Given the description of an element on the screen output the (x, y) to click on. 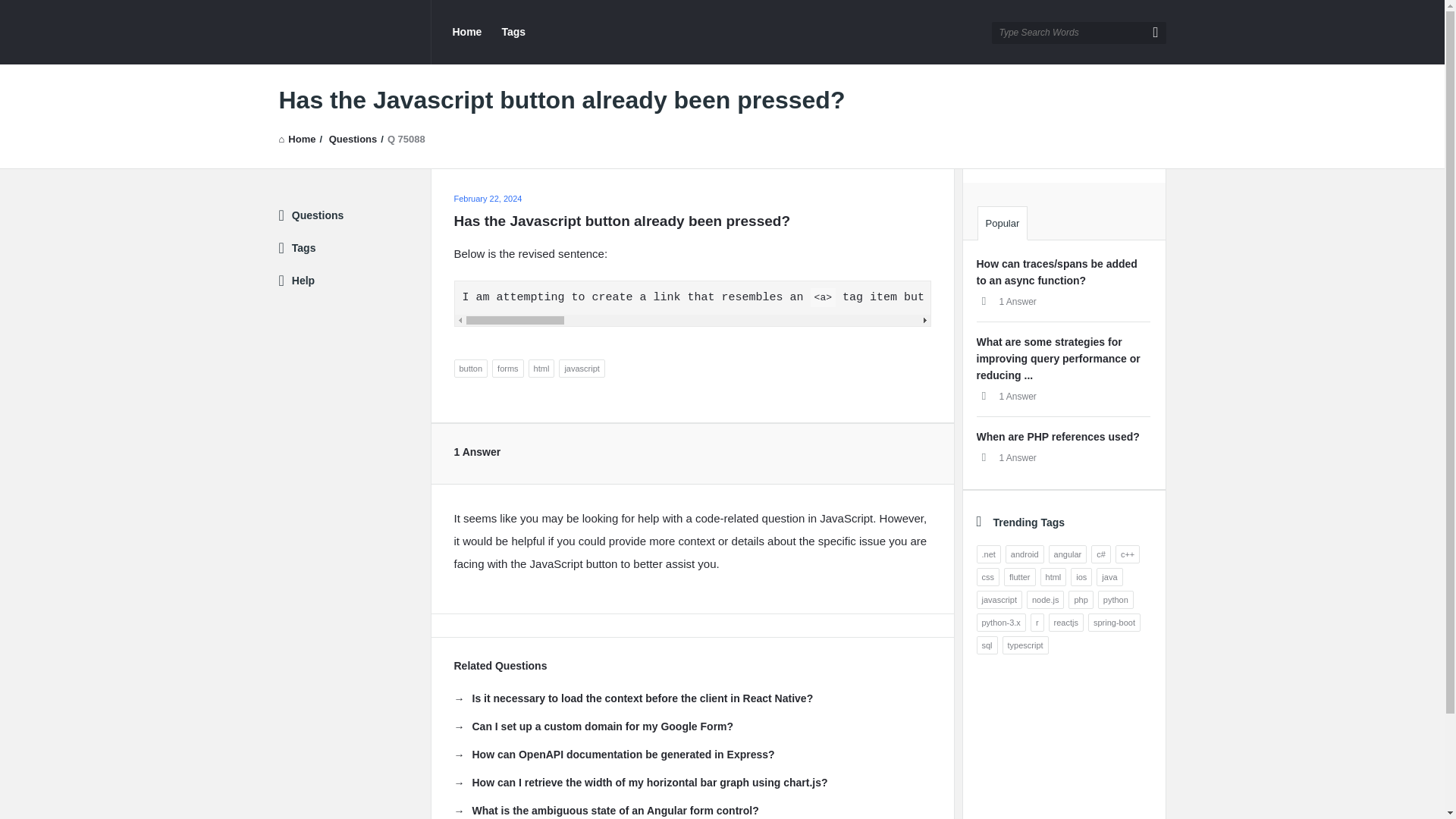
javascript (581, 368)
February 22, 2024 (486, 198)
Home (466, 32)
Questions (353, 138)
Home (297, 138)
html (541, 368)
Can I set up a custom domain for my Google Form? (592, 726)
button (469, 368)
Home (297, 138)
Tags (513, 32)
forms (508, 368)
How can OpenAPI documentation be generated in Express? (613, 754)
Questions (353, 138)
